Given the description of an element on the screen output the (x, y) to click on. 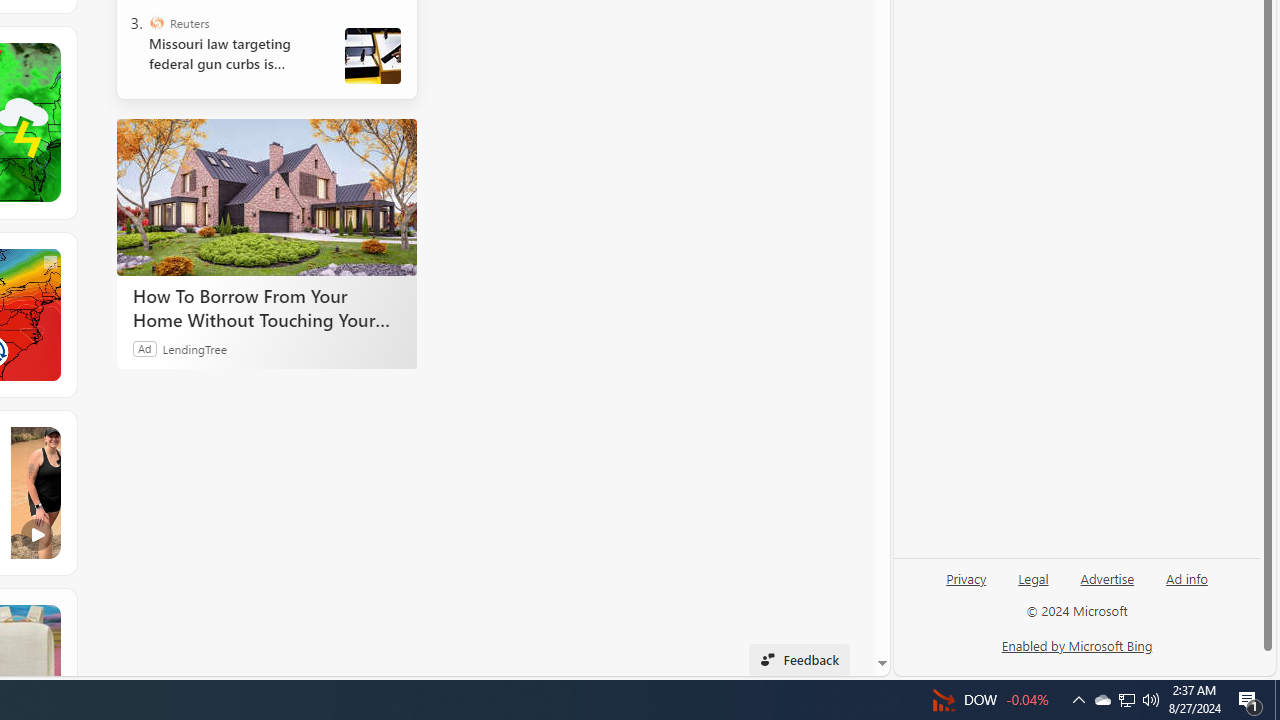
Reuters (156, 22)
LendingTree (194, 348)
